Given the description of an element on the screen output the (x, y) to click on. 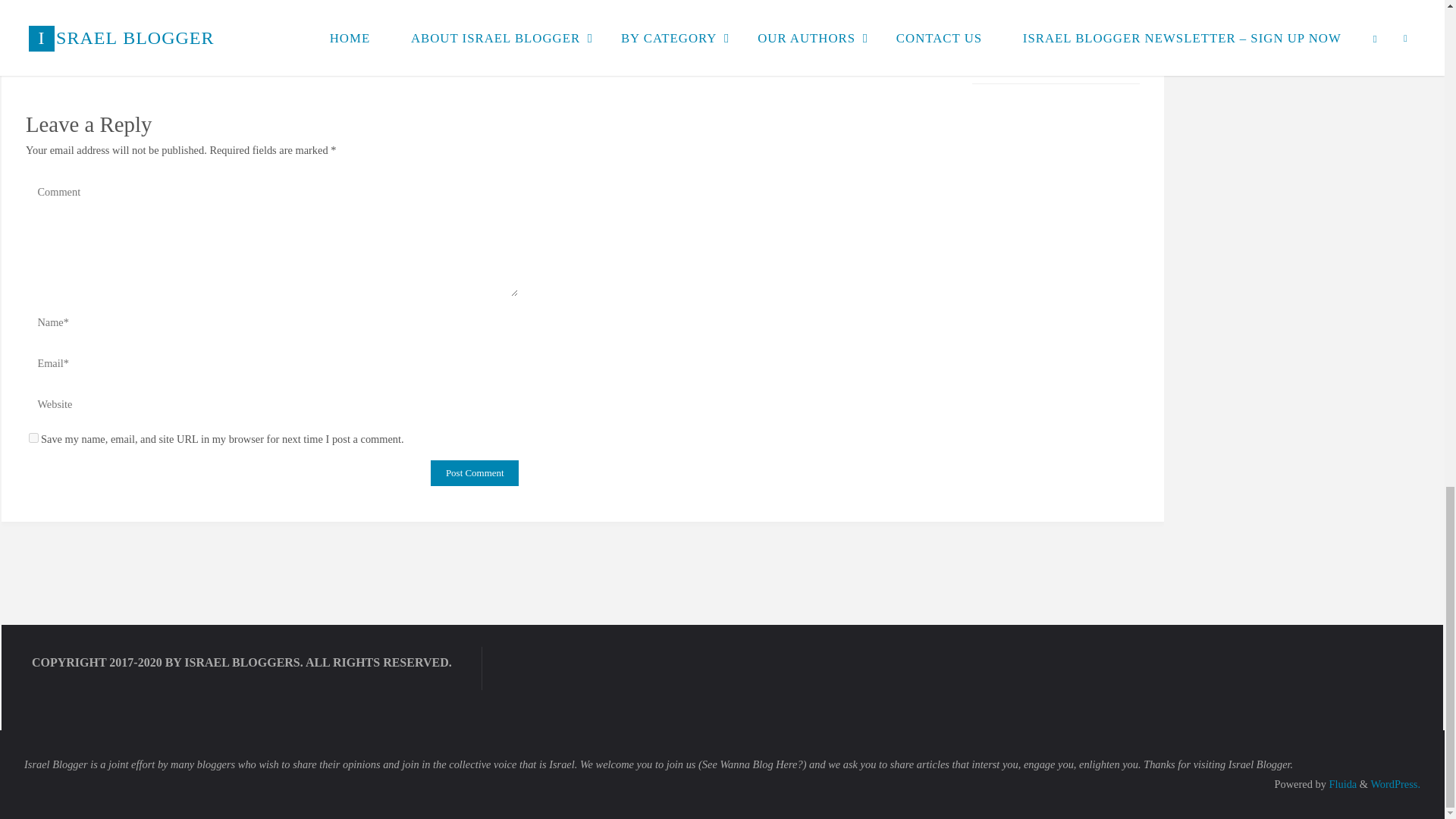
Fluida WordPress Theme by Cryout Creations (1341, 784)
yes (34, 438)
Post Comment (474, 473)
Semantic Personal Publishing Platform (1395, 784)
